Given the description of an element on the screen output the (x, y) to click on. 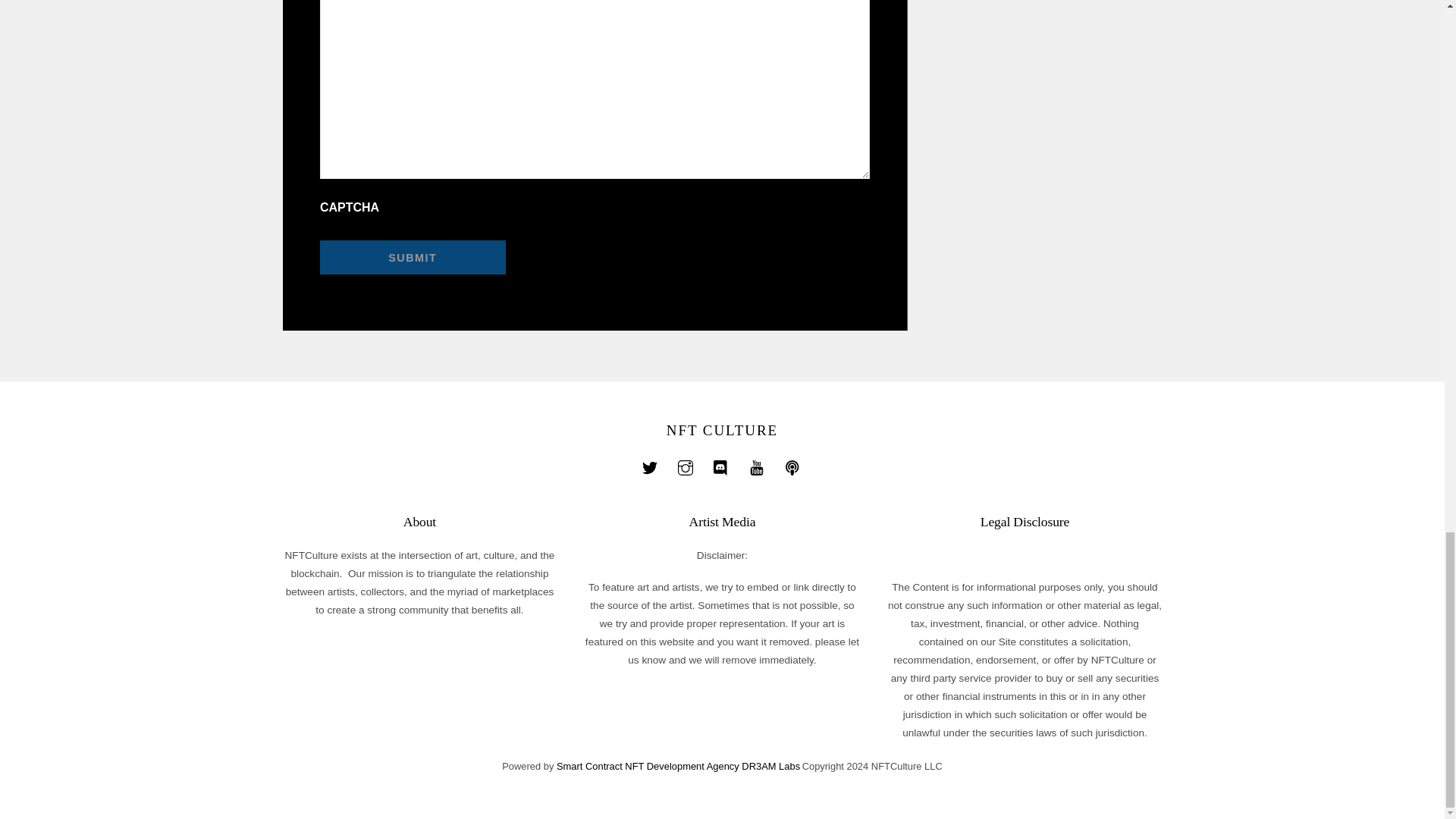
Submit (412, 257)
Submit (412, 257)
NFT CULTURE (721, 430)
